Given the description of an element on the screen output the (x, y) to click on. 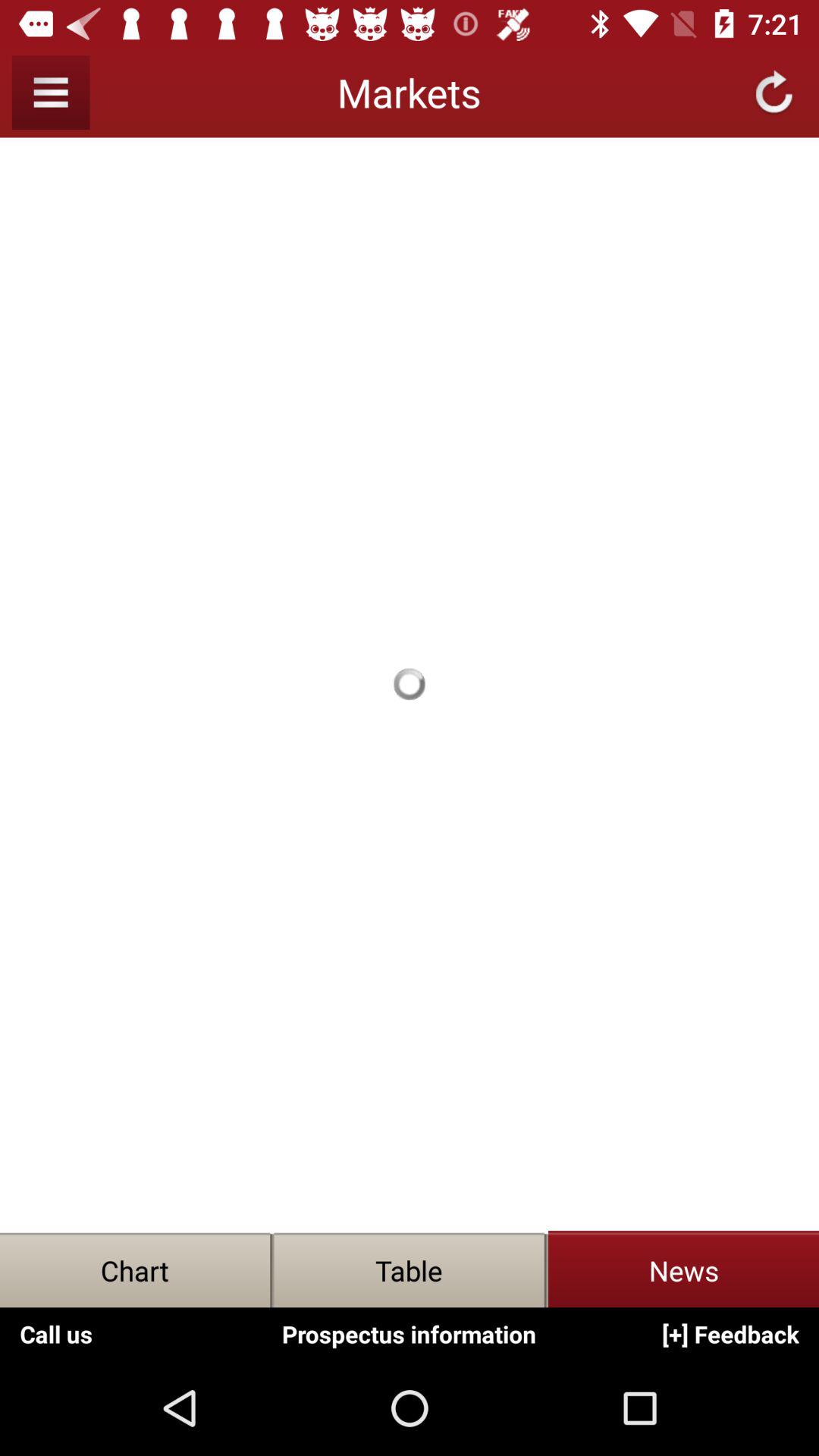
select the table option (409, 1270)
select the option call us which is on the bottom left corner of the screen (55, 1334)
click on the refresh icon (774, 92)
